Given the description of an element on the screen output the (x, y) to click on. 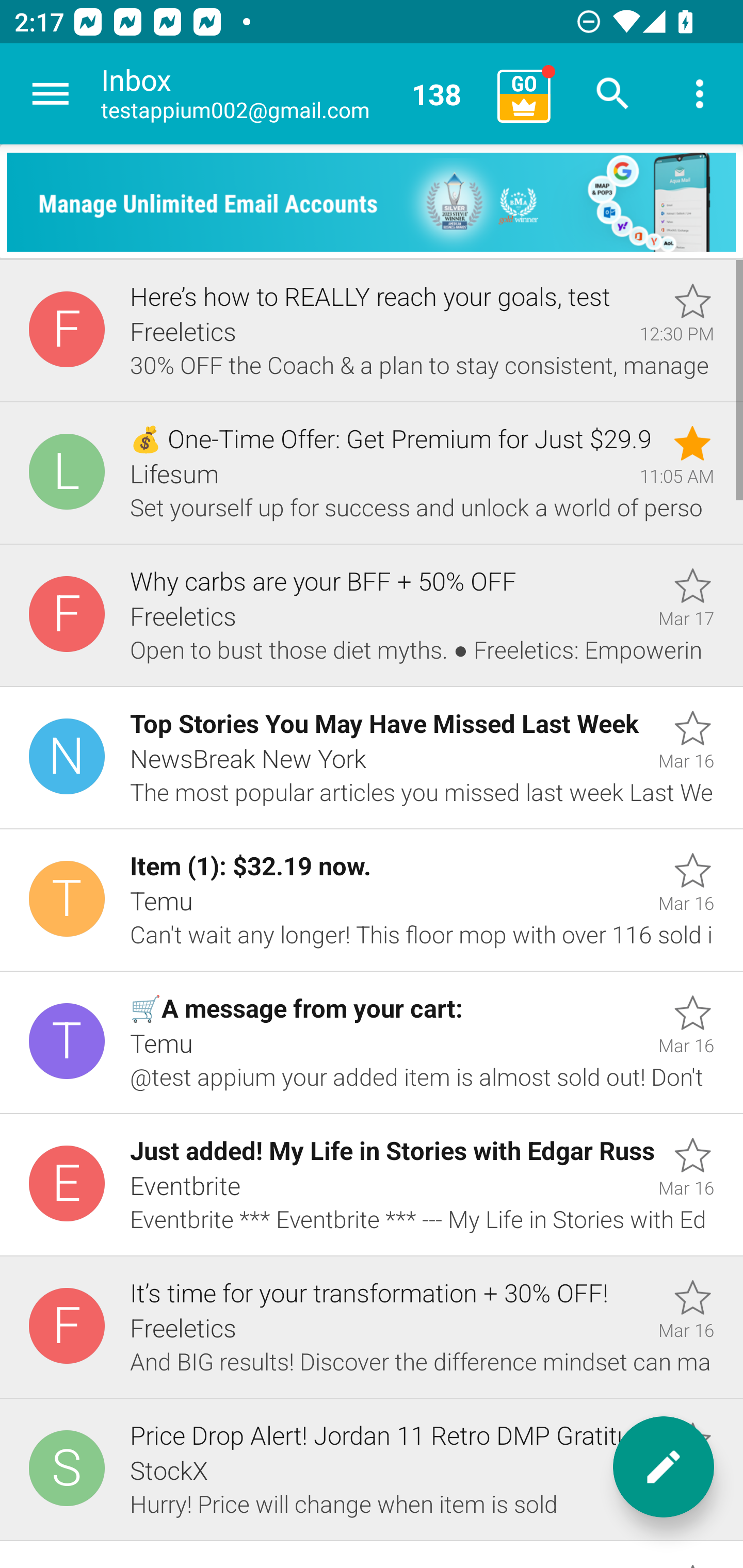
Navigate up (50, 93)
Inbox testappium002@gmail.com 138 (291, 93)
Search (612, 93)
More options (699, 93)
New message (663, 1466)
